Given the description of an element on the screen output the (x, y) to click on. 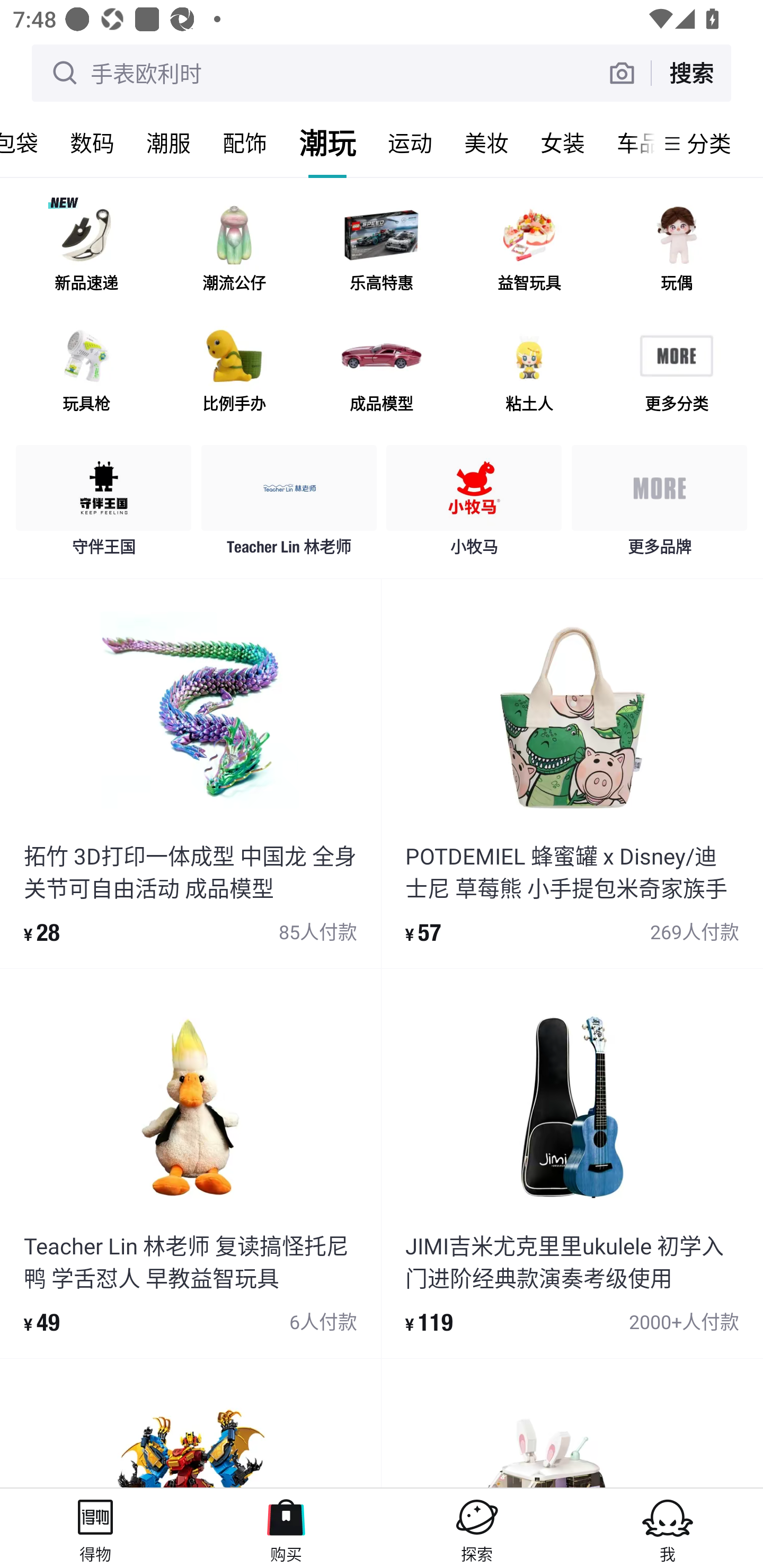
搜索 (690, 72)
包袋 (27, 143)
数码 (92, 143)
潮服 (168, 143)
配饰 (244, 143)
潮玩 (327, 143)
运动 (410, 143)
美妆 (486, 143)
女装 (562, 143)
车品 (627, 143)
分类 (708, 143)
新品速递 (86, 251)
潮流公仔 (233, 251)
乐高特惠 (381, 251)
益智玩具 (528, 251)
玩偶 (676, 251)
玩具枪 (86, 372)
比例手办 (233, 372)
成品模型 (381, 372)
粘土人 (528, 372)
更多分类 (676, 372)
守伴王国 (103, 505)
Teacher Lin 林老师 (288, 505)
小牧马 (473, 505)
更多品牌 (658, 505)
得物 (95, 1528)
购买 (285, 1528)
探索 (476, 1528)
我 (667, 1528)
